Given the description of an element on the screen output the (x, y) to click on. 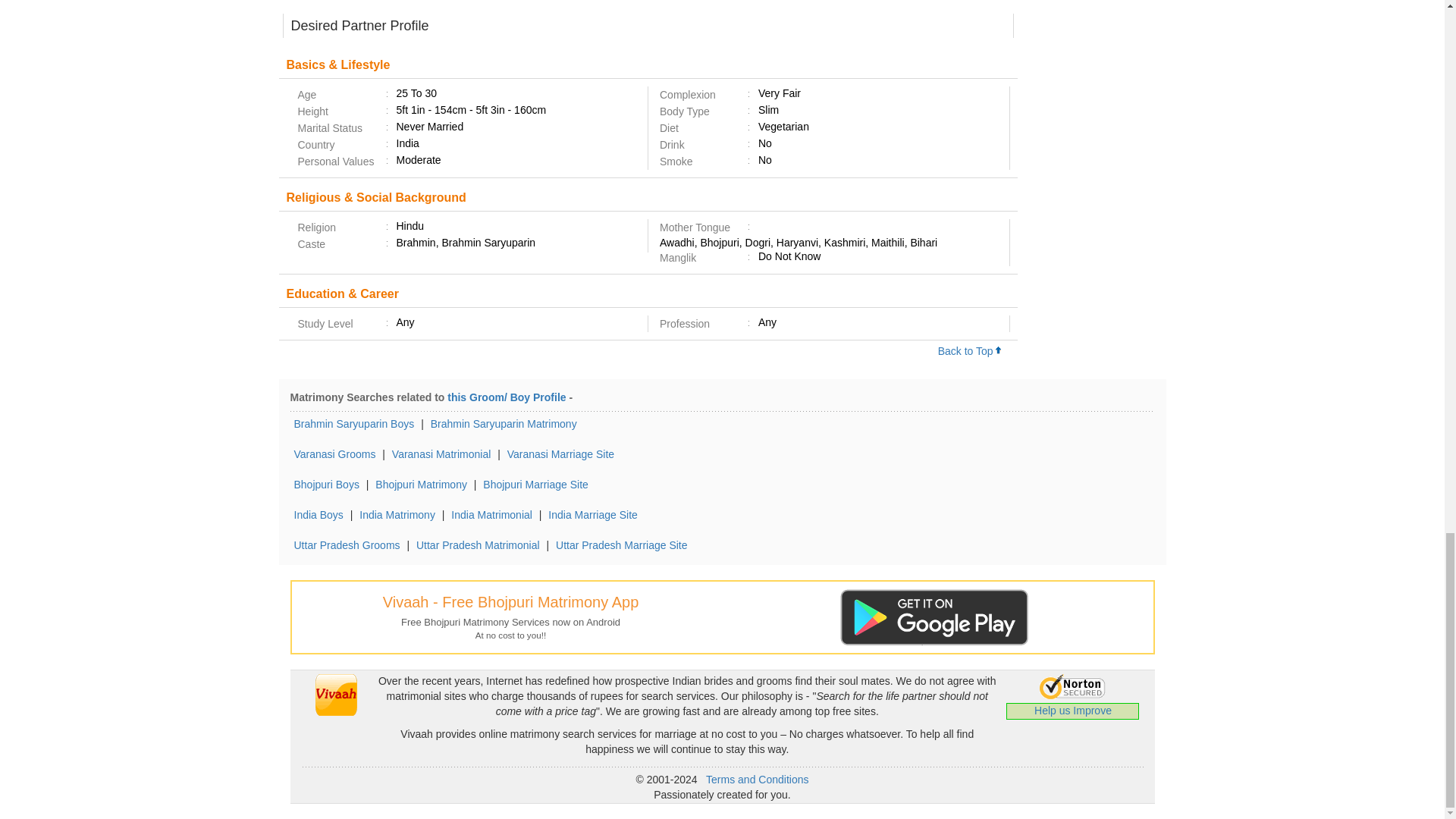
Norton Secured (1072, 686)
